Given the description of an element on the screen output the (x, y) to click on. 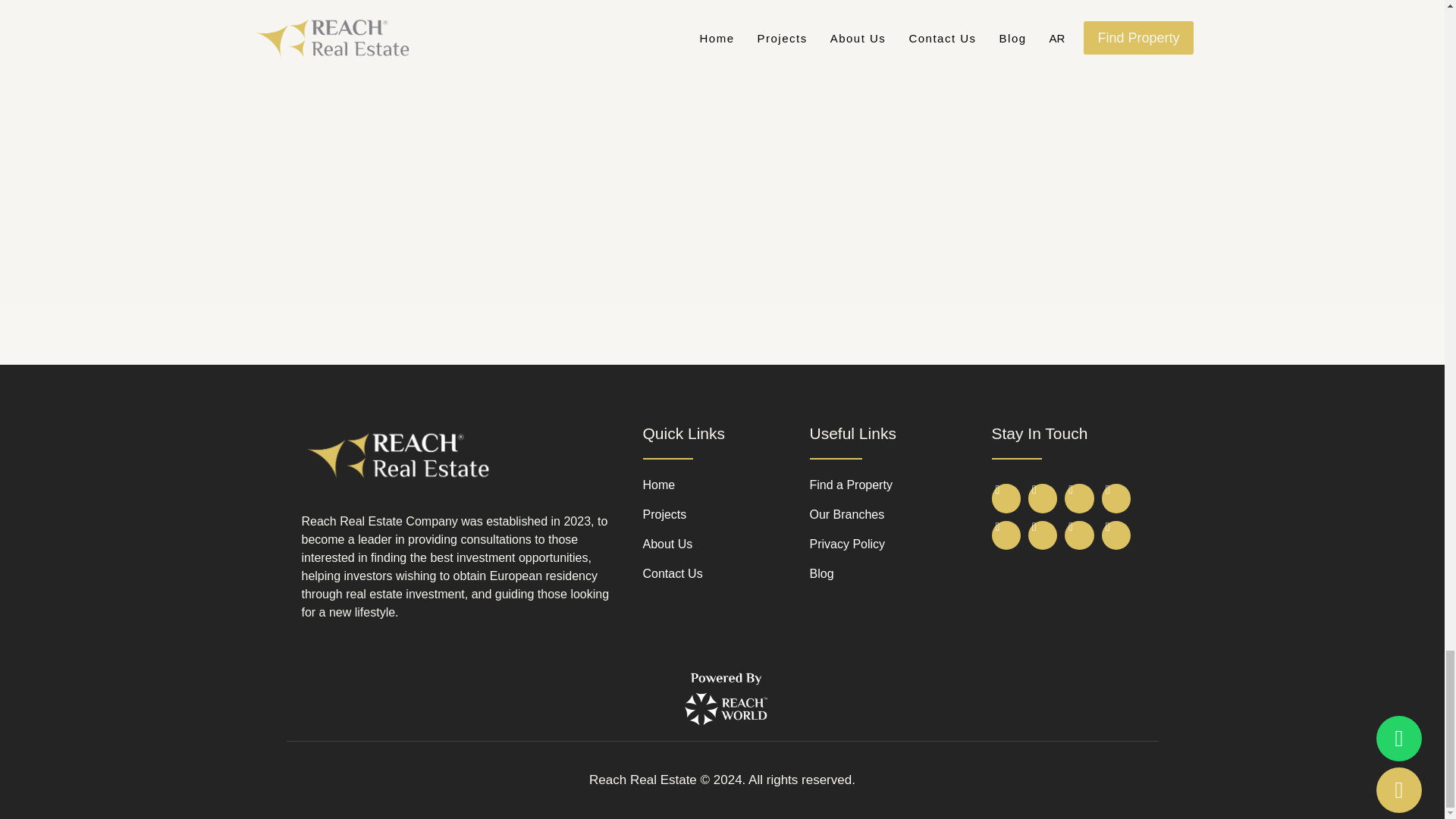
Our Branches (896, 515)
Blog (896, 574)
Privacy Policy (896, 544)
SEND NOW (675, 198)
Find a Property (896, 484)
Projects (726, 515)
Home (726, 484)
Contact Us (726, 574)
About Us (726, 544)
